Given the description of an element on the screen output the (x, y) to click on. 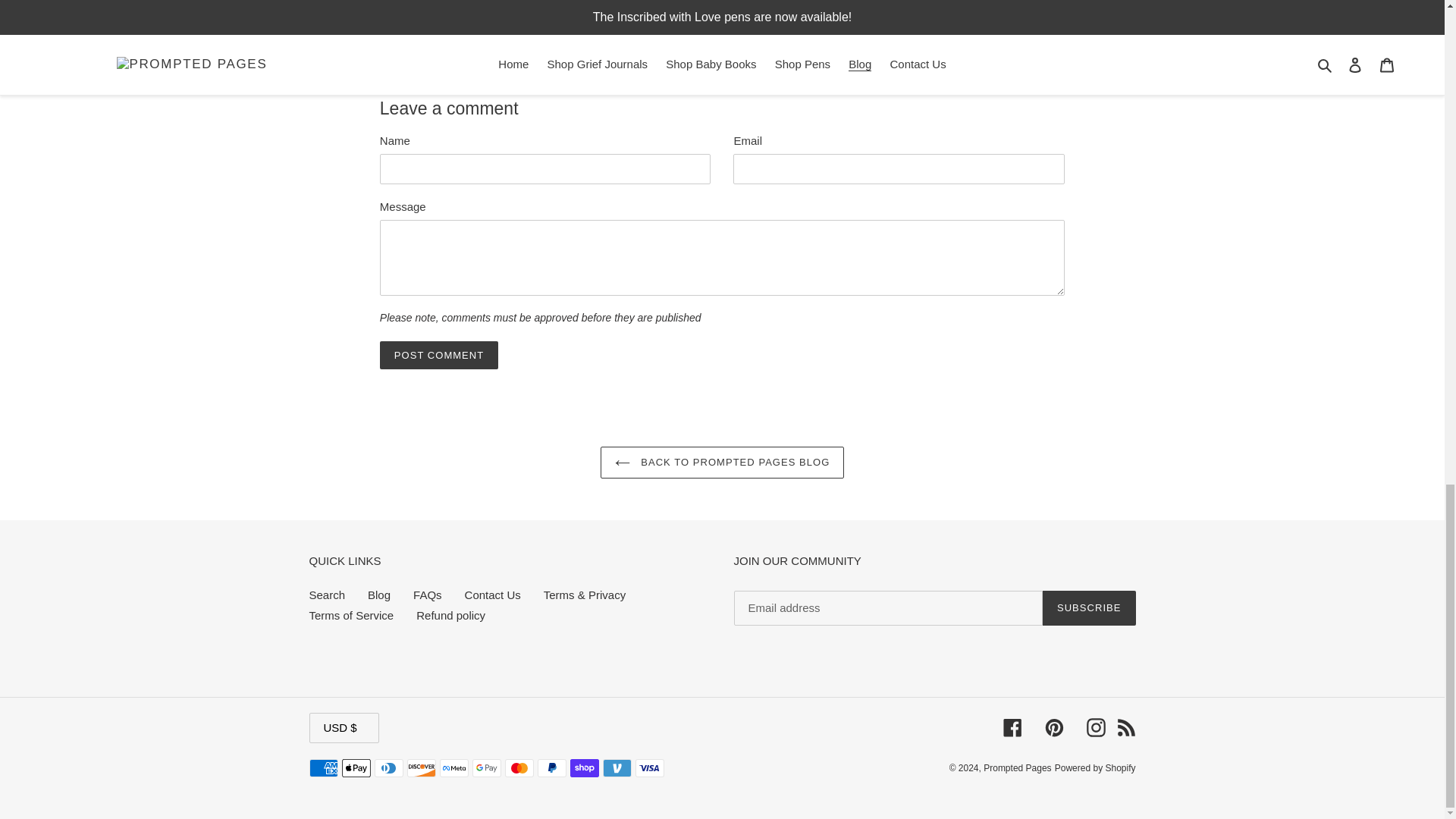
Diners Club (388, 768)
Blog (559, 3)
Terms of Service (379, 594)
American Express (351, 615)
Google Pay (322, 768)
Mastercard (485, 768)
Discover (414, 3)
Contact Us (519, 768)
